Given the description of an element on the screen output the (x, y) to click on. 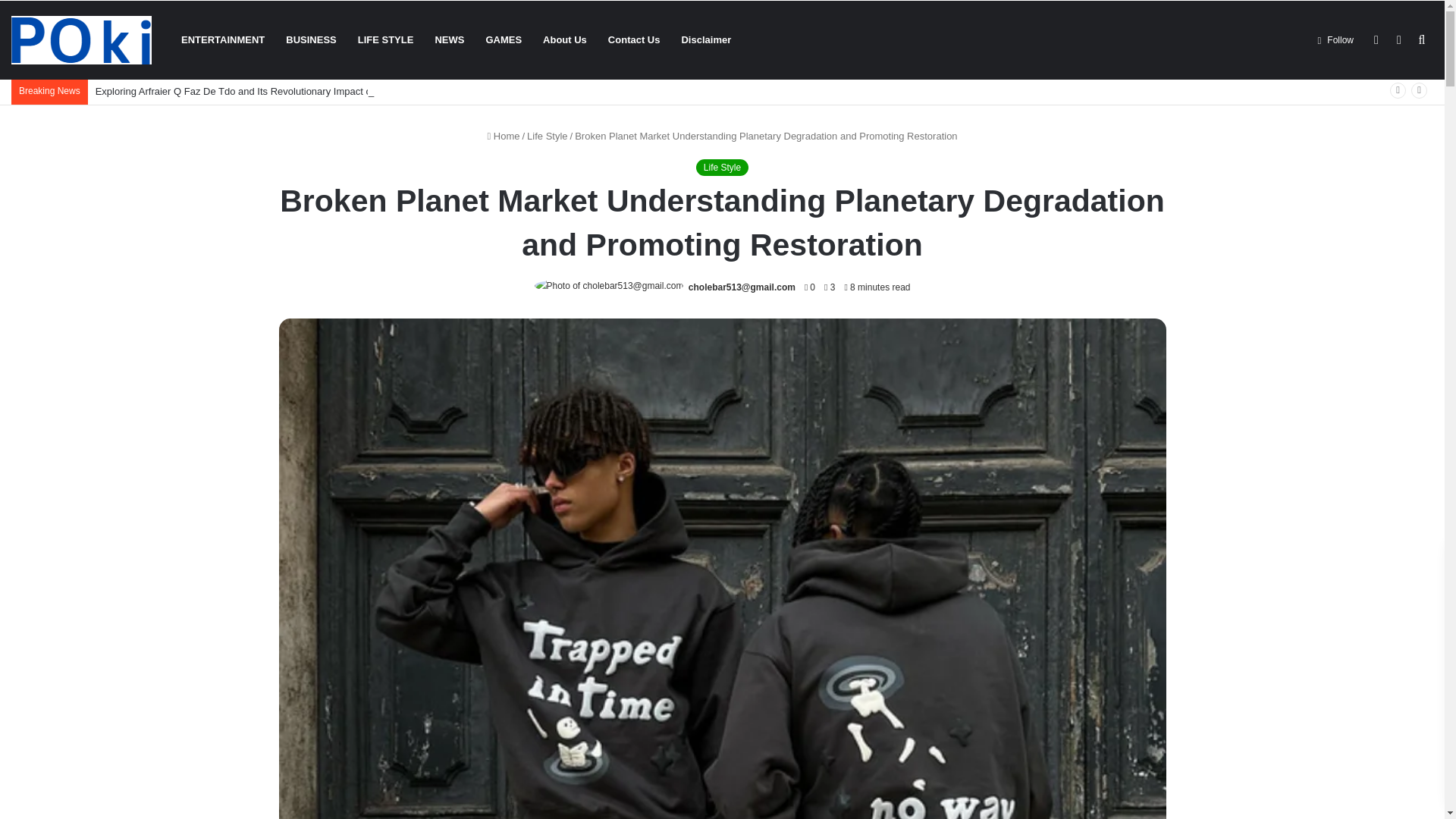
Home (502, 135)
Life Style (547, 135)
Disclaimer (705, 39)
BUSINESS (310, 39)
Gaming on the Go: Top Poki Games for Mobile Devices (81, 39)
Contact Us (633, 39)
LIFE STYLE (386, 39)
Life Style (721, 167)
ENTERTAINMENT (222, 39)
